Given the description of an element on the screen output the (x, y) to click on. 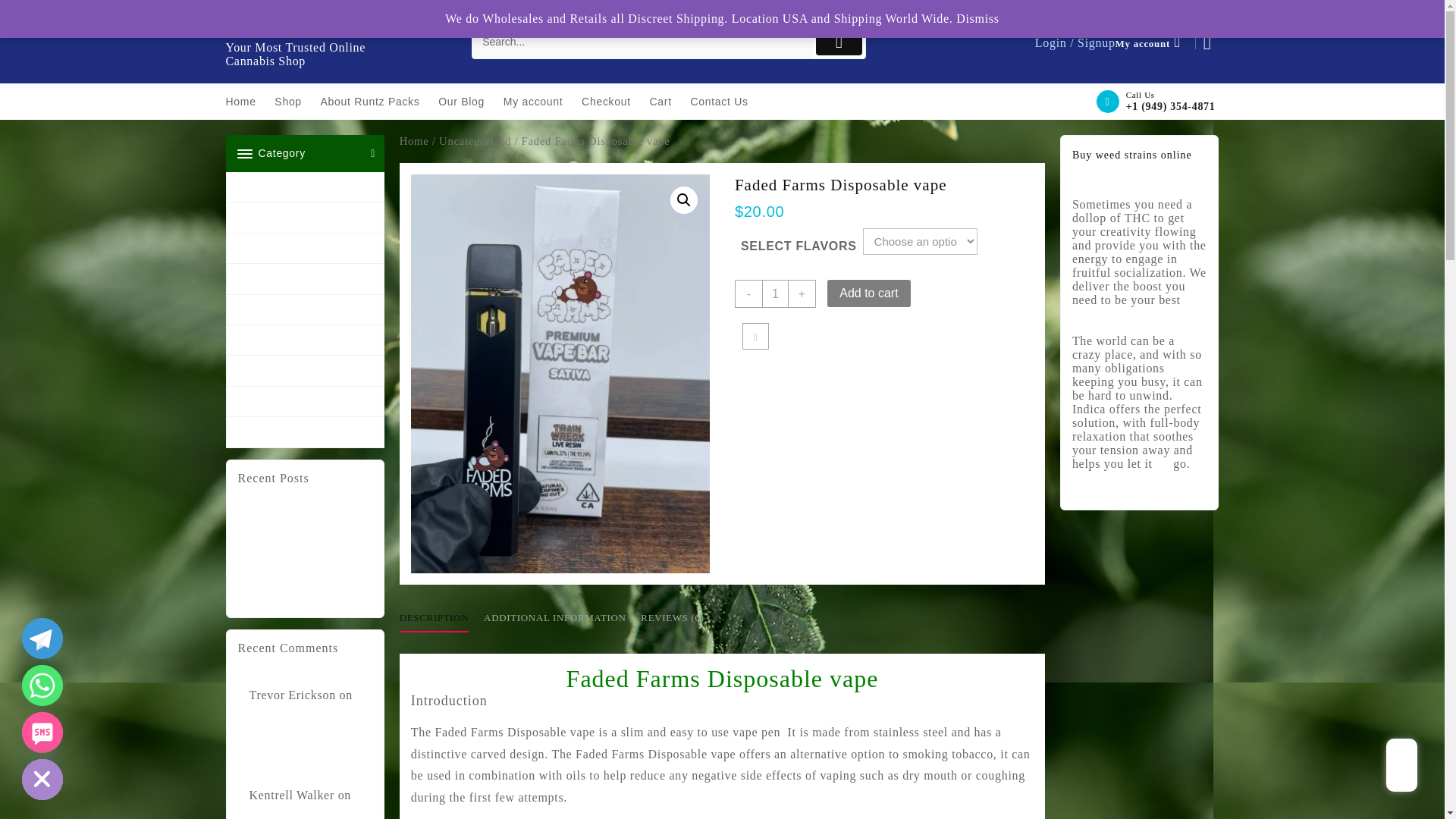
Cookies Live Sauce Carts (301, 727)
Our Blog (468, 101)
Uncategorized (304, 186)
RUNTZ PACKS (304, 27)
EDIBLES (304, 217)
VAPE CARTRIDGES (304, 340)
Search (641, 41)
MOON ROCKS (304, 248)
Puffin Disposable THC live resin Vapes (300, 542)
My account (540, 101)
Shop (296, 101)
Contact Us (726, 101)
PREROLLS (304, 309)
Checkout (613, 101)
